Given the description of an element on the screen output the (x, y) to click on. 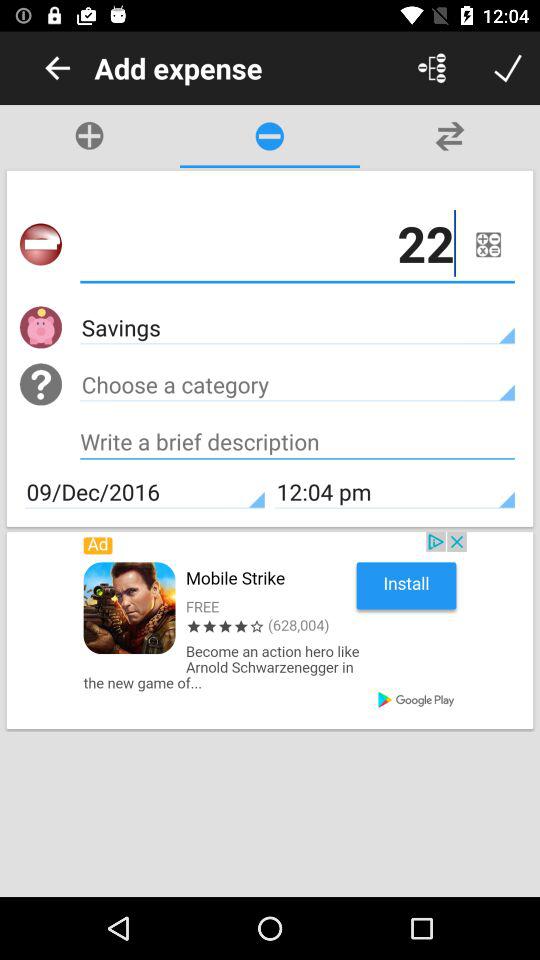
go back (57, 67)
